Given the description of an element on the screen output the (x, y) to click on. 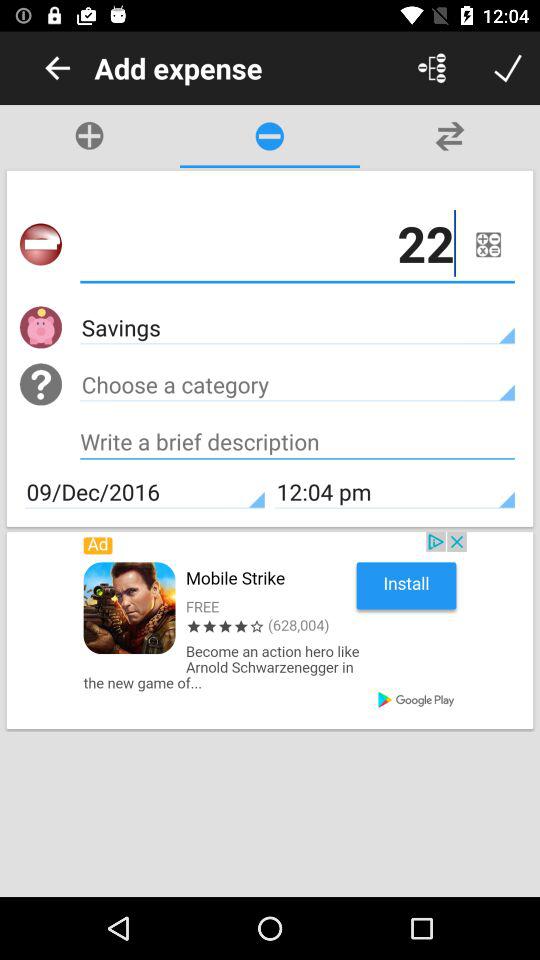
go back (57, 67)
